Given the description of an element on the screen output the (x, y) to click on. 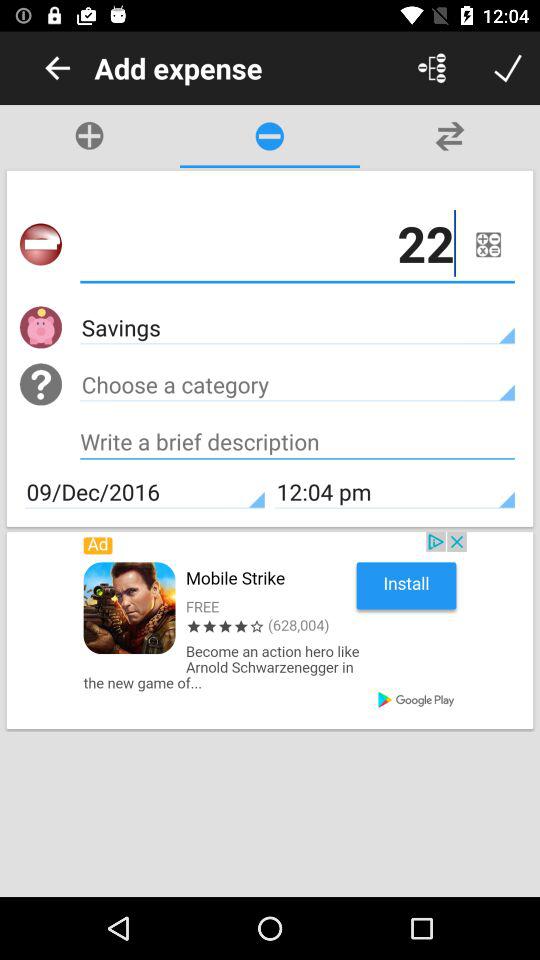
go back (57, 67)
